Given the description of an element on the screen output the (x, y) to click on. 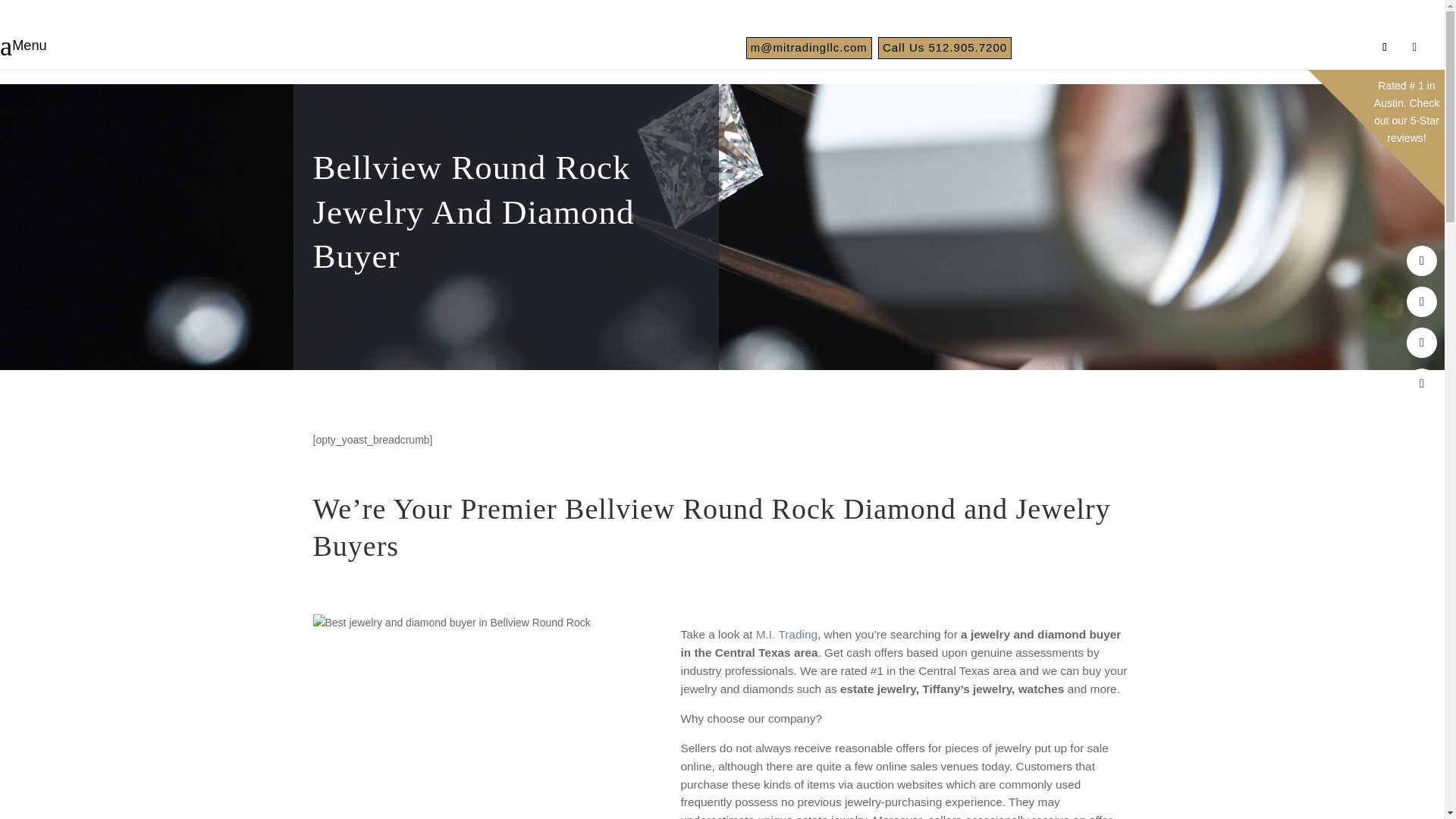
M.I. Trading (785, 634)
Click to Call (944, 47)
Call Us 512.905.7200 (944, 47)
Click to Mail (808, 47)
